Given the description of an element on the screen output the (x, y) to click on. 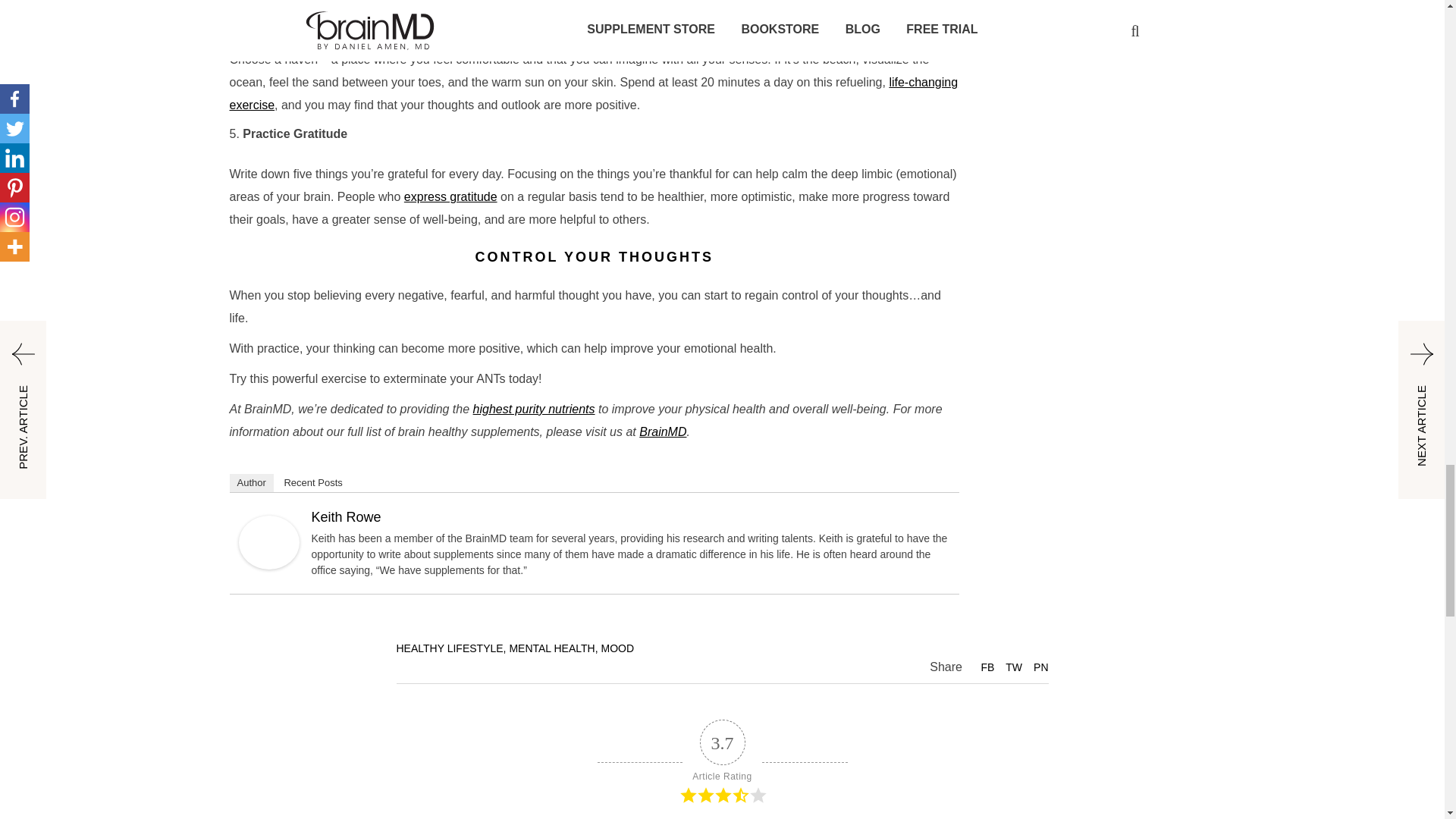
Keith Rowe (268, 541)
